Given the description of an element on the screen output the (x, y) to click on. 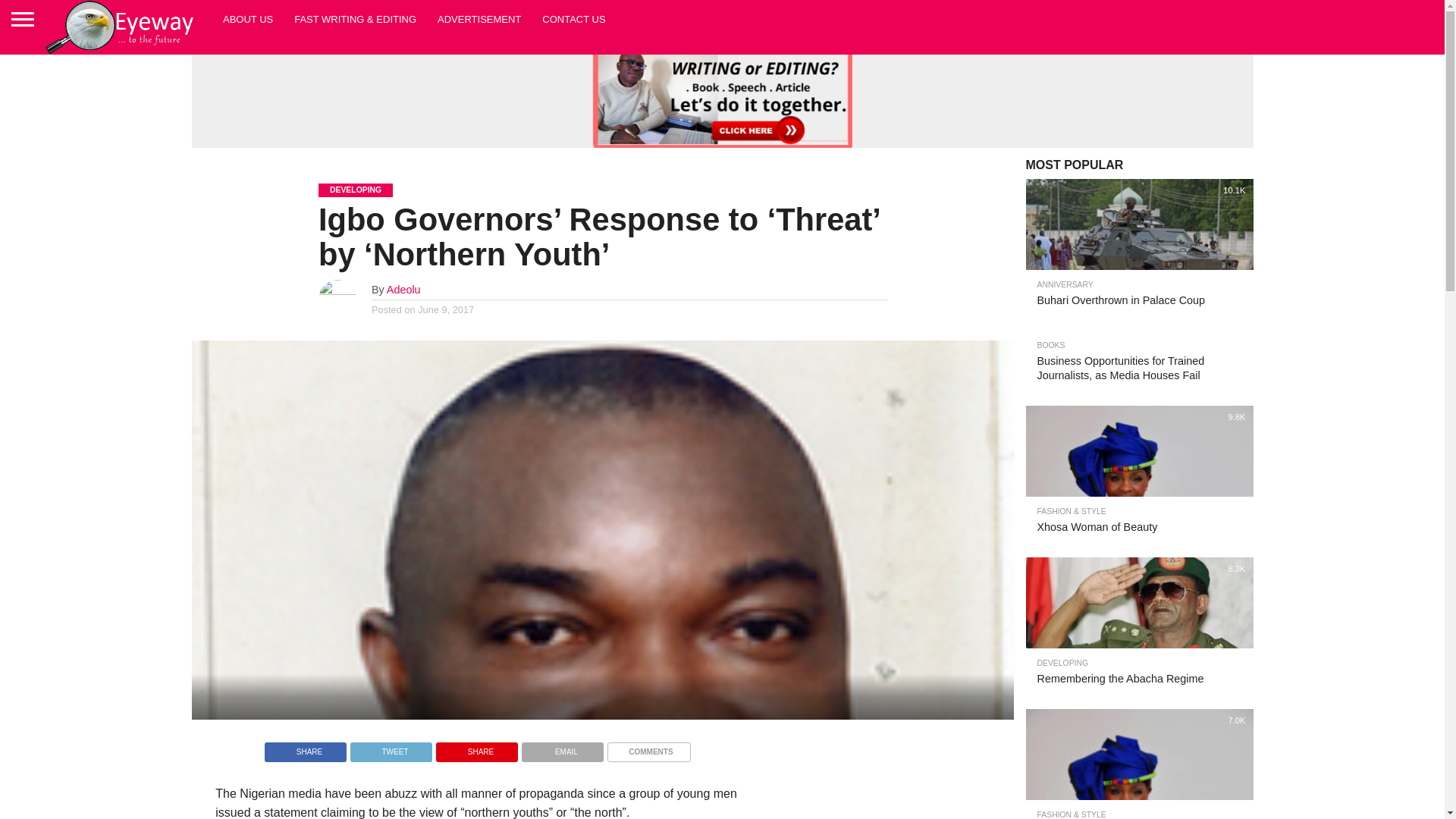
TWEET (390, 748)
ADVERTISEMENT (478, 18)
Pin This Post (476, 748)
Tweet This Post (390, 748)
SHARE (476, 748)
Posts by Adeolu (403, 289)
ABOUT US (247, 18)
SHARE (305, 748)
Share on Facebook (305, 748)
CONTACT US (573, 18)
Adeolu (403, 289)
EMAIL (562, 748)
COMMENTS (648, 748)
